Given the description of an element on the screen output the (x, y) to click on. 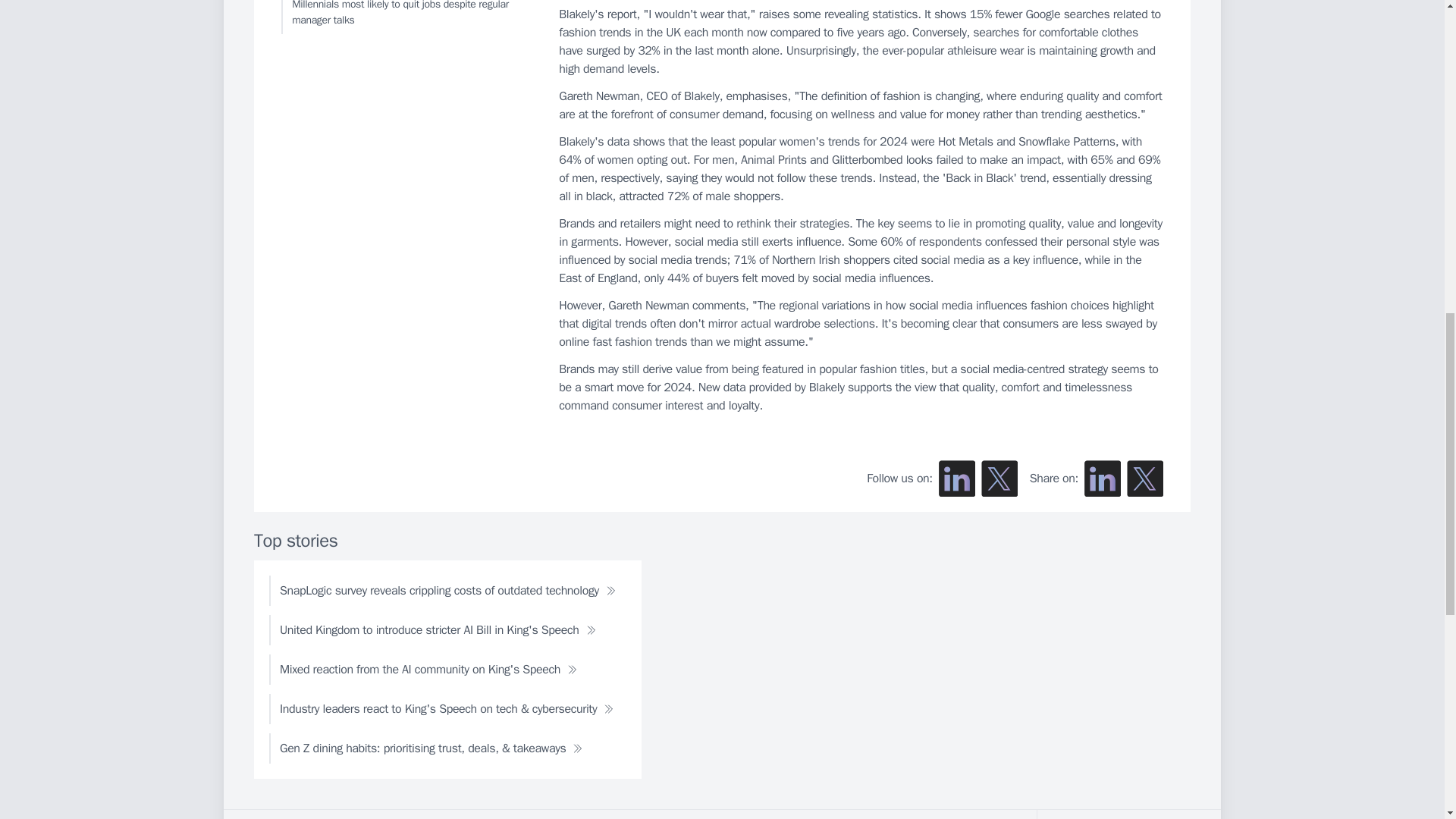
Mixed reaction from the AI community on King's Speech (428, 669)
